Given the description of an element on the screen output the (x, y) to click on. 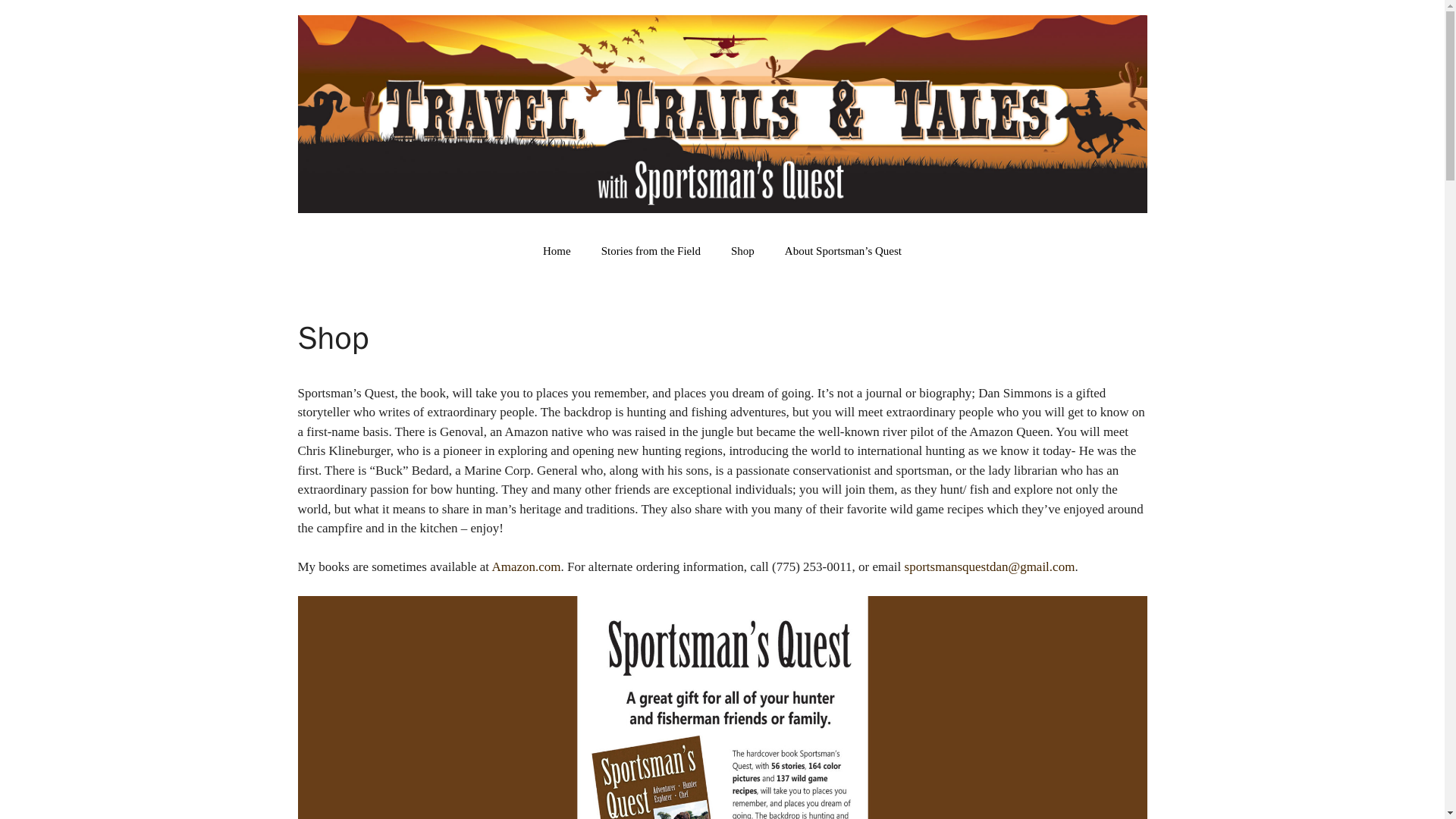
Stories from the Field (651, 250)
Shop (743, 250)
Amazon.com (526, 566)
Home (556, 250)
